Given the description of an element on the screen output the (x, y) to click on. 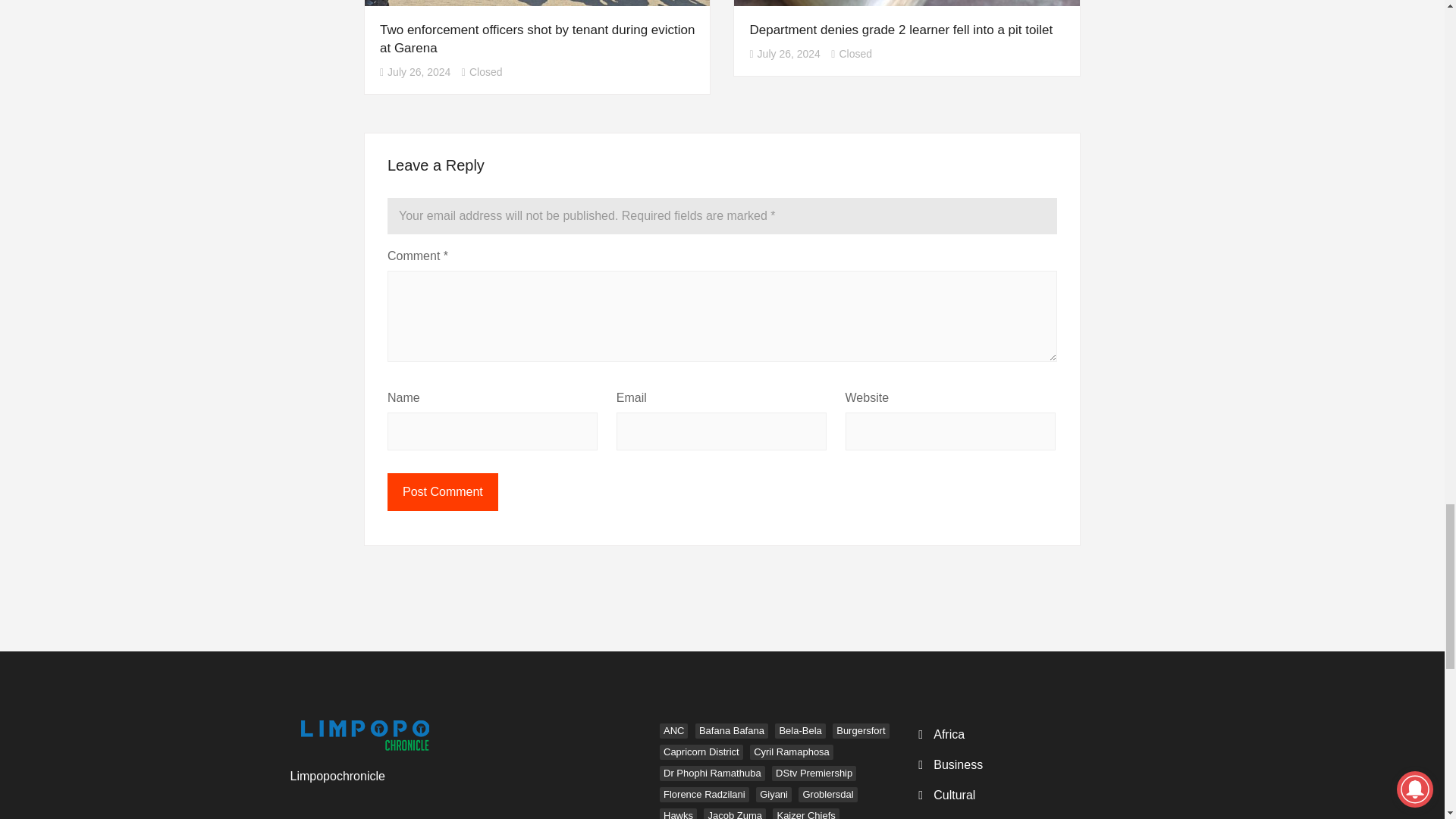
Post Comment (442, 492)
